Given the description of an element on the screen output the (x, y) to click on. 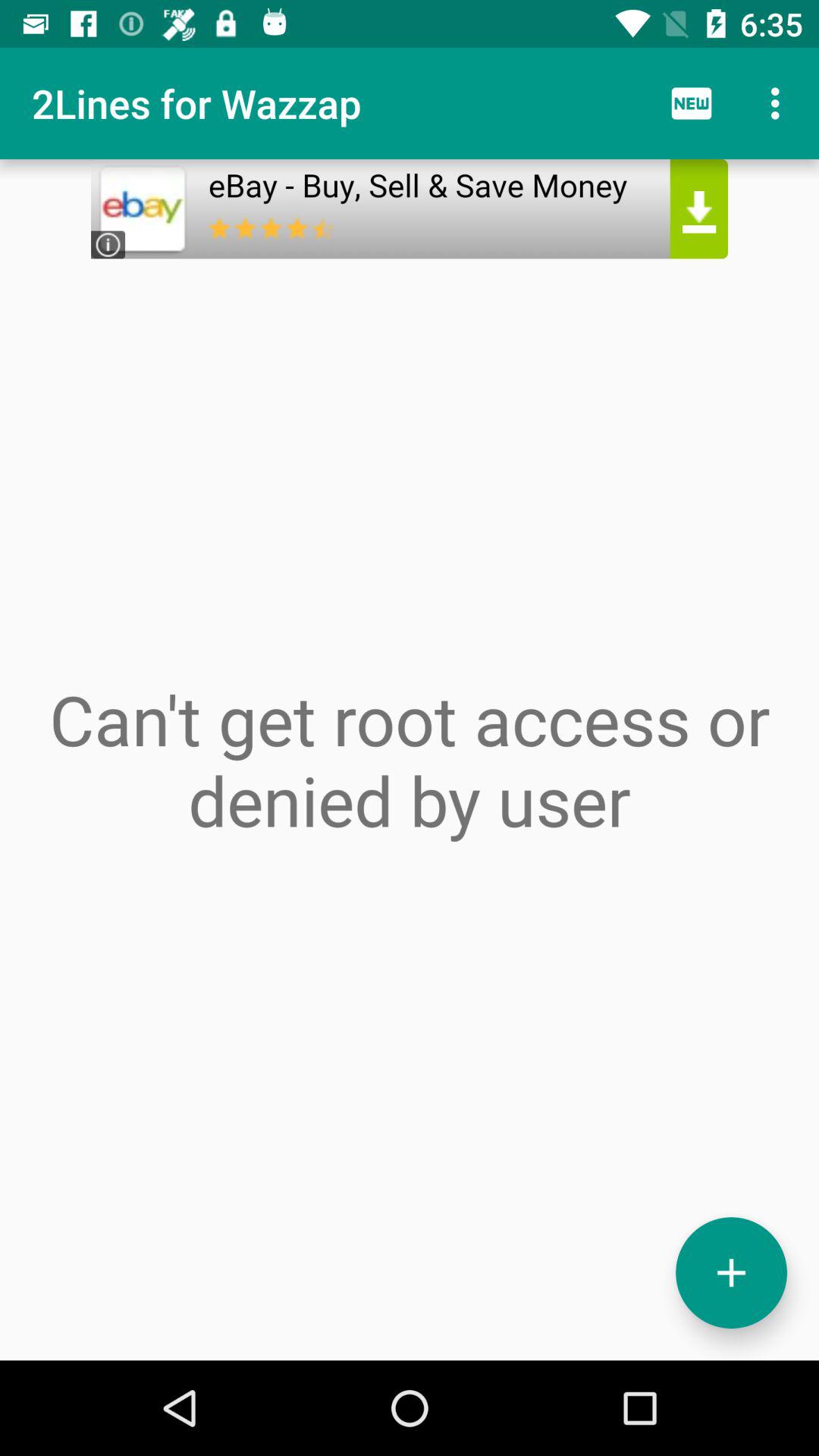
turn off the item next to the 2lines for wazzap item (691, 103)
